Given the description of an element on the screen output the (x, y) to click on. 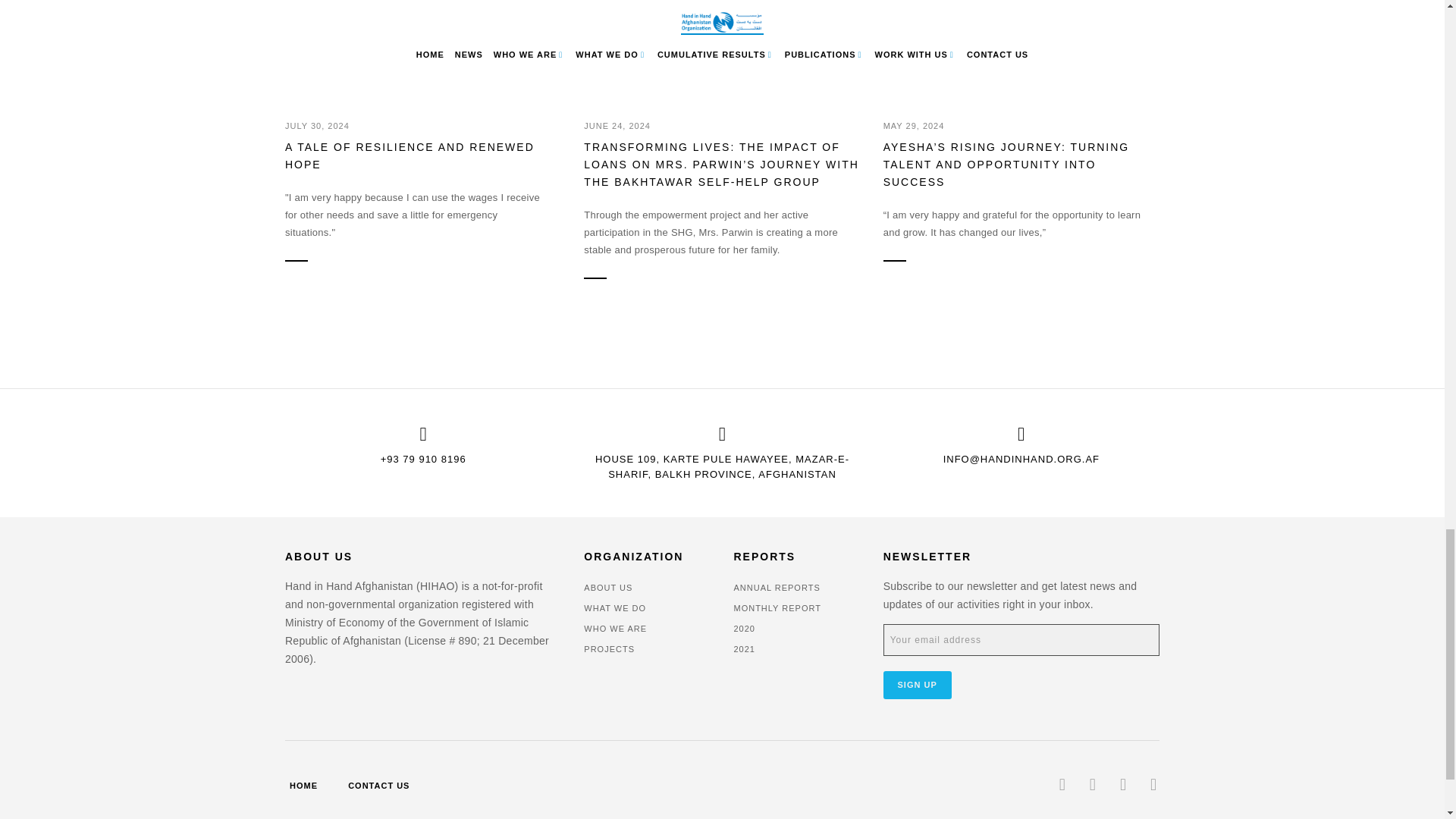
Sign up (917, 684)
